Given the description of an element on the screen output the (x, y) to click on. 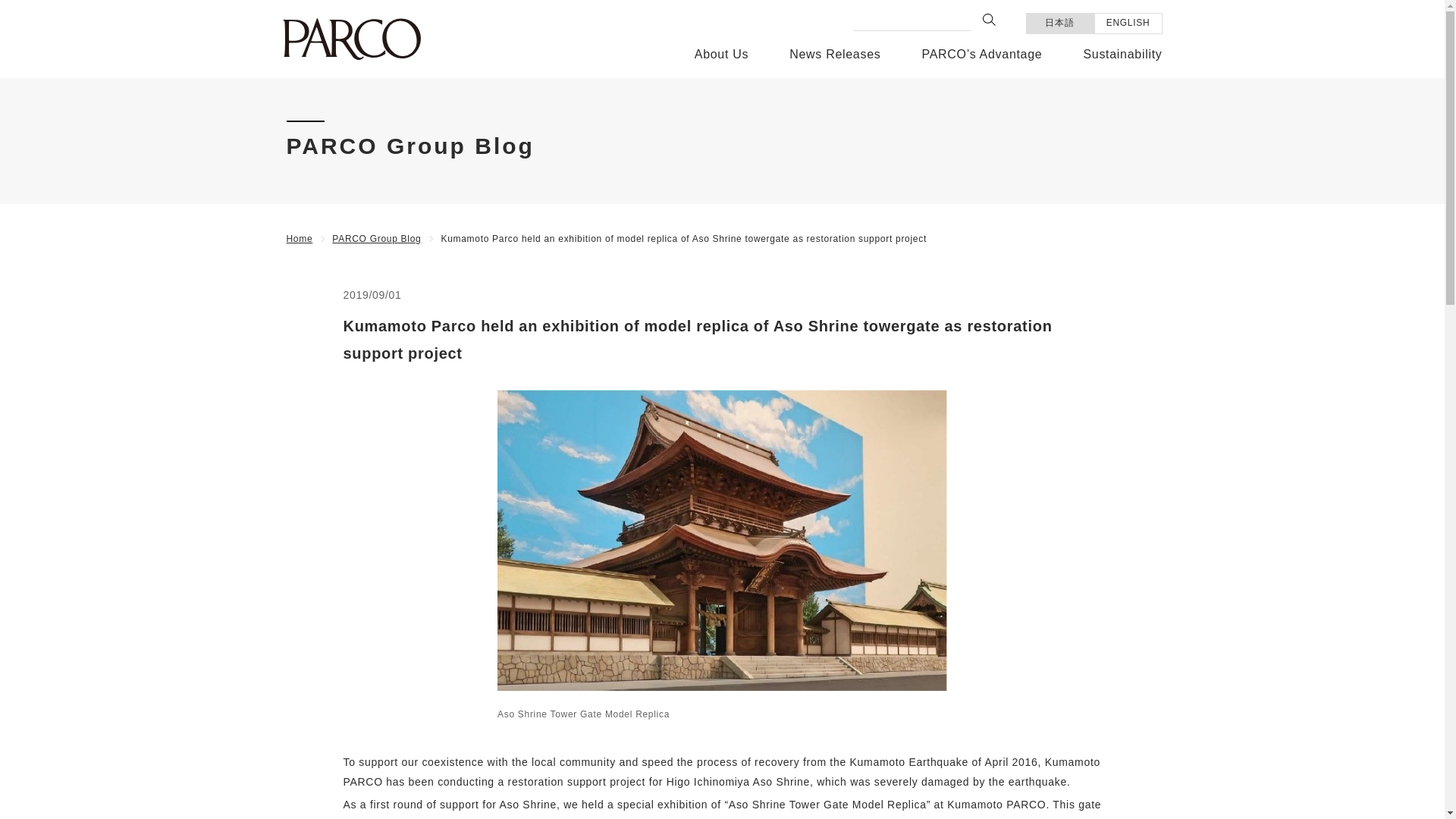
About Us (721, 61)
ENGLISH (1127, 23)
